Given the description of an element on the screen output the (x, y) to click on. 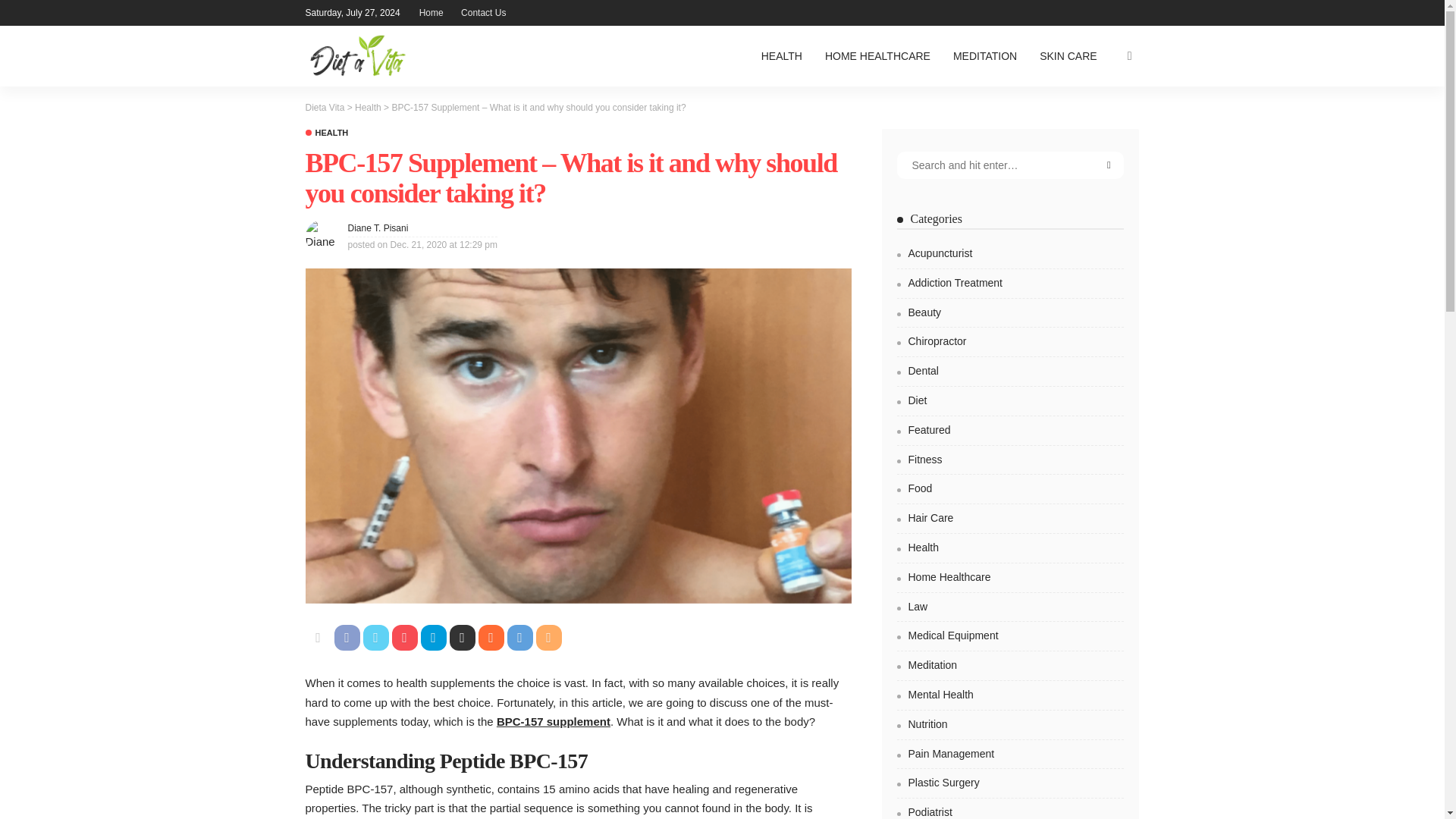
HOME HEALTHCARE (877, 55)
Diane T. Pisani (377, 227)
SKIN CARE (1067, 55)
Featured (1010, 433)
Diet (1010, 404)
Home (431, 12)
Health (325, 132)
Health (368, 107)
MEDITATION (984, 55)
search for: (1010, 165)
Go to the Health Category archives. (368, 107)
BPC-157 supplement (553, 721)
Go to Dieta Vita. (323, 107)
Contact Us (482, 12)
Dental (1010, 374)
